Given the description of an element on the screen output the (x, y) to click on. 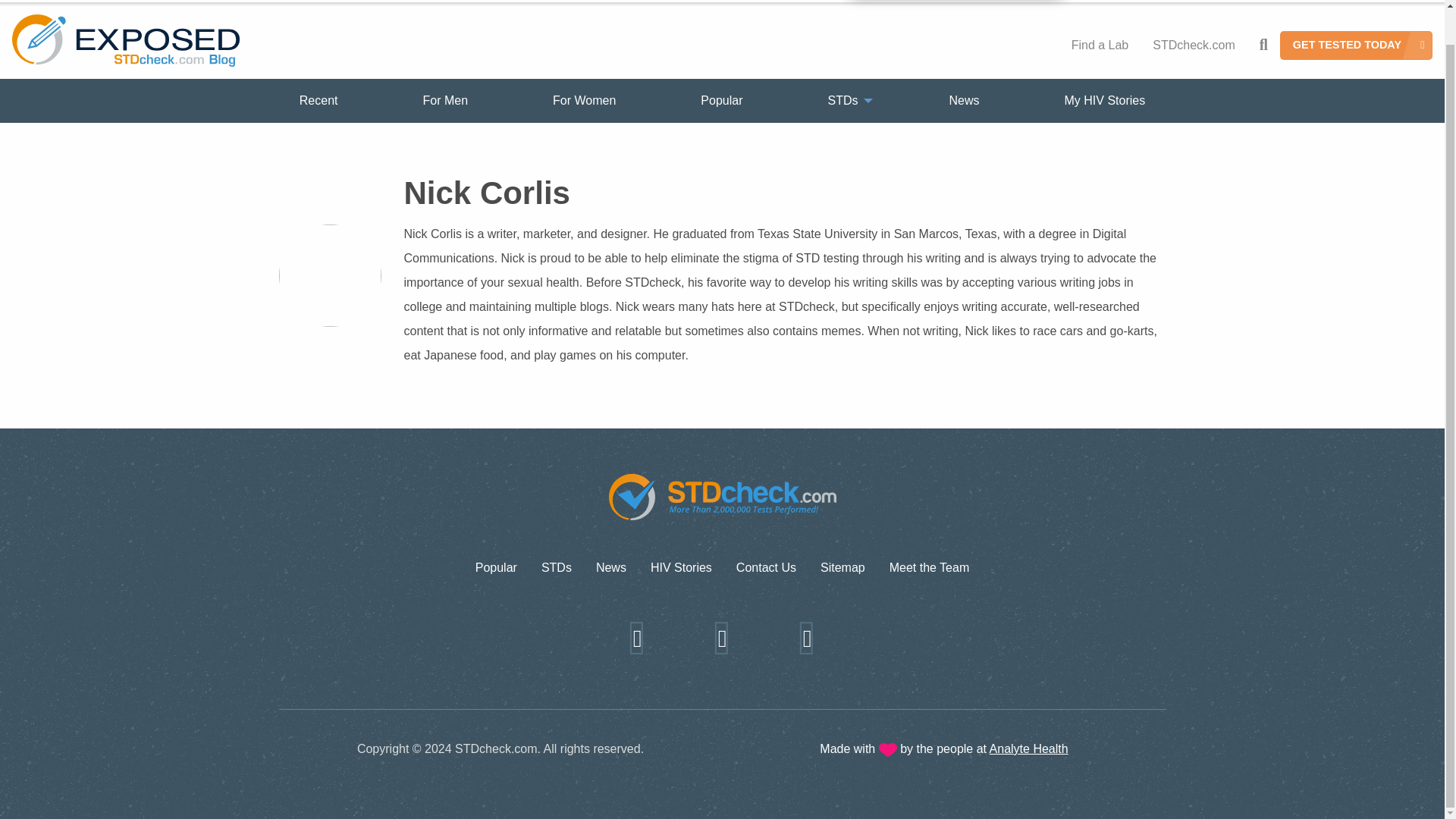
For Men (445, 100)
My HIV Stories (1104, 100)
STDs (845, 100)
Recent (318, 100)
GET TESTED TODAY (1355, 45)
STDcheck.com (1193, 45)
Popular (496, 567)
For Women (583, 100)
News (964, 100)
Popular (721, 100)
Find a Lab (1100, 45)
